Given the description of an element on the screen output the (x, y) to click on. 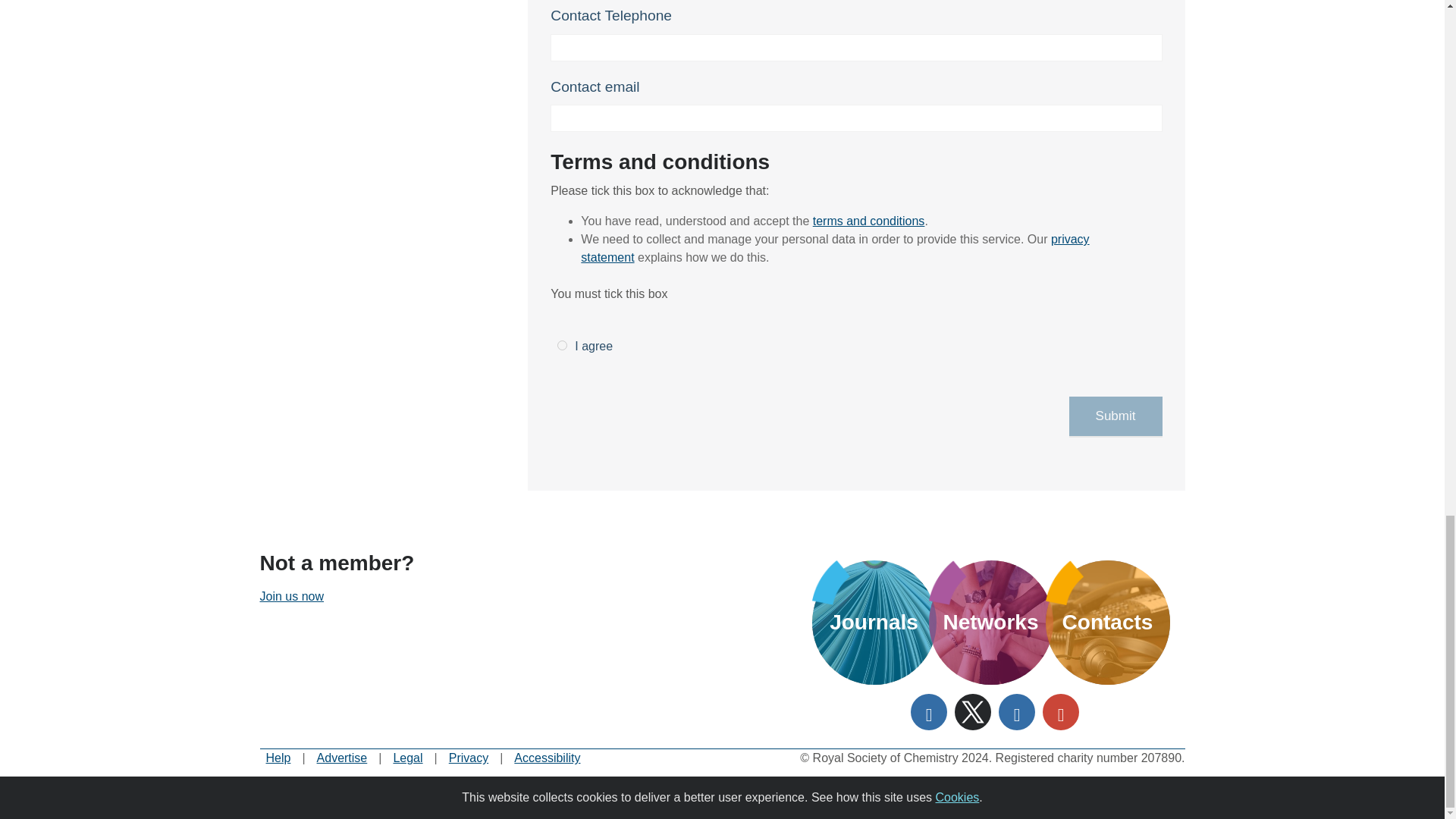
Accessibility statement (546, 758)
Contacts (1107, 622)
I agree (562, 345)
Frequently asked questions (276, 758)
Networks (990, 622)
